Given the description of an element on the screen output the (x, y) to click on. 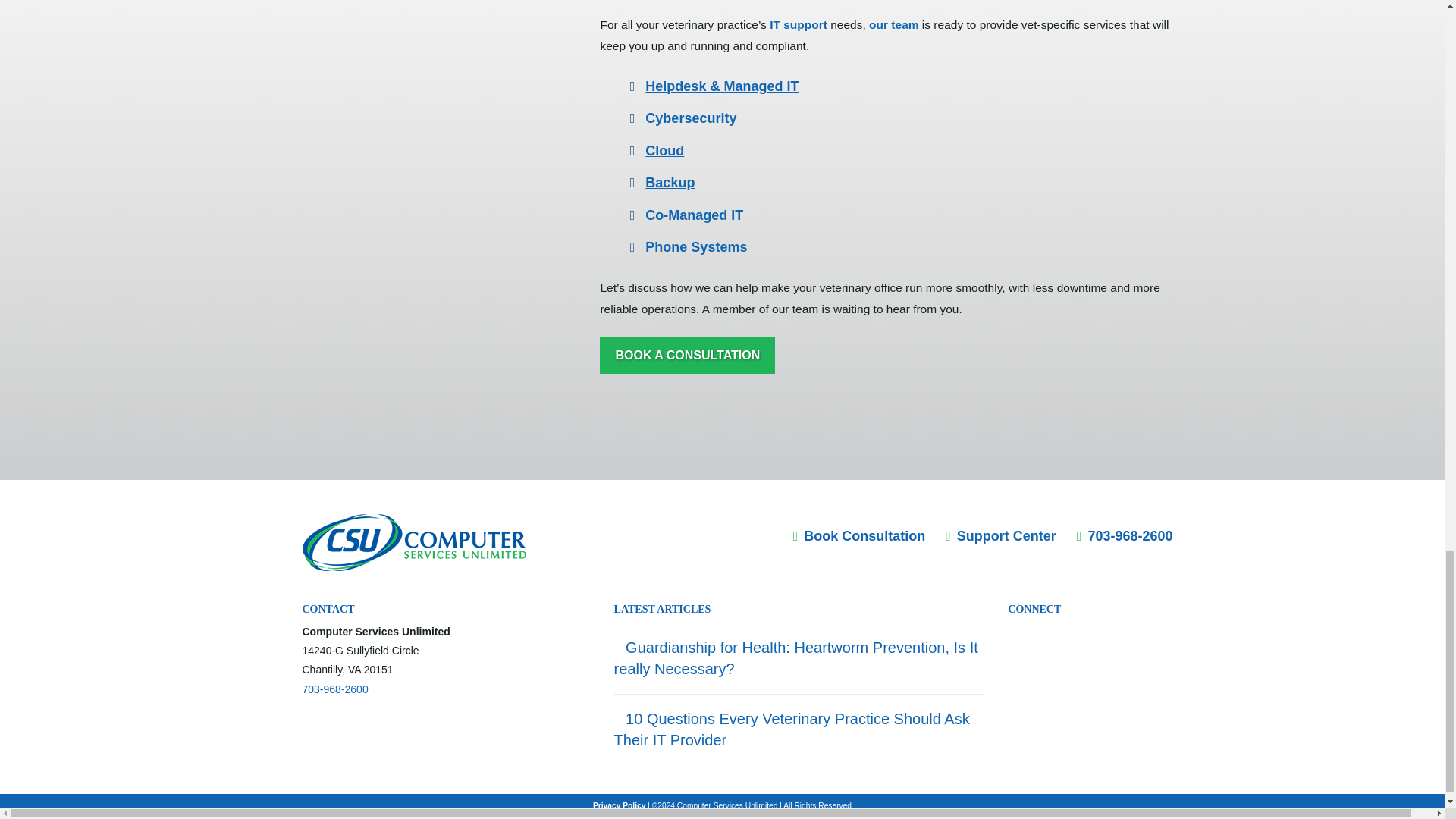
our team (893, 24)
Phone Systems (695, 246)
Book Consultation (859, 535)
Support Center (1000, 535)
703-968-2600 (334, 689)
Co-Managed IT (693, 215)
Cloud (664, 150)
Cybersecurity (690, 118)
703-968-2600 (1125, 535)
